Given the description of an element on the screen output the (x, y) to click on. 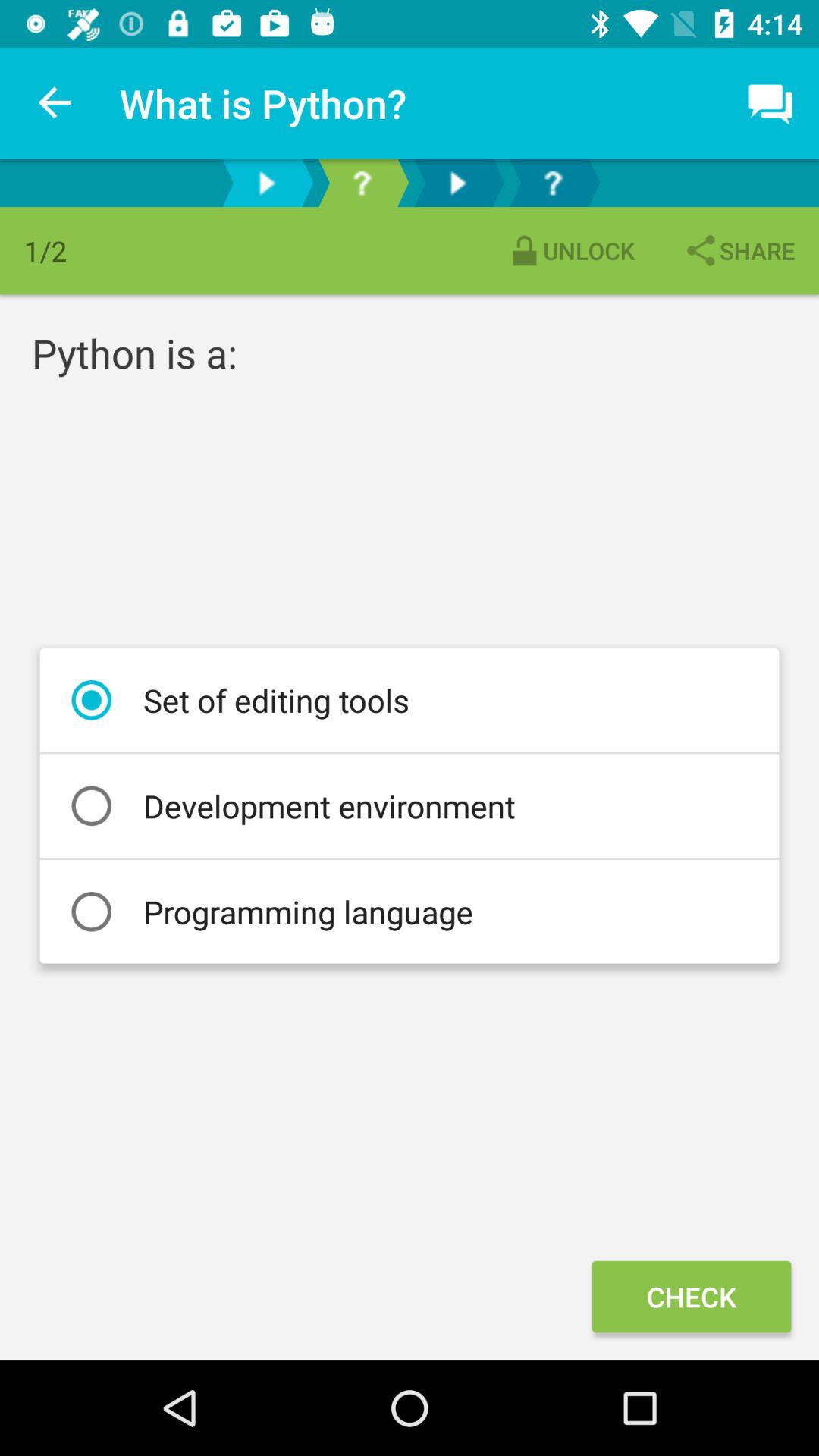
help (552, 183)
